Given the description of an element on the screen output the (x, y) to click on. 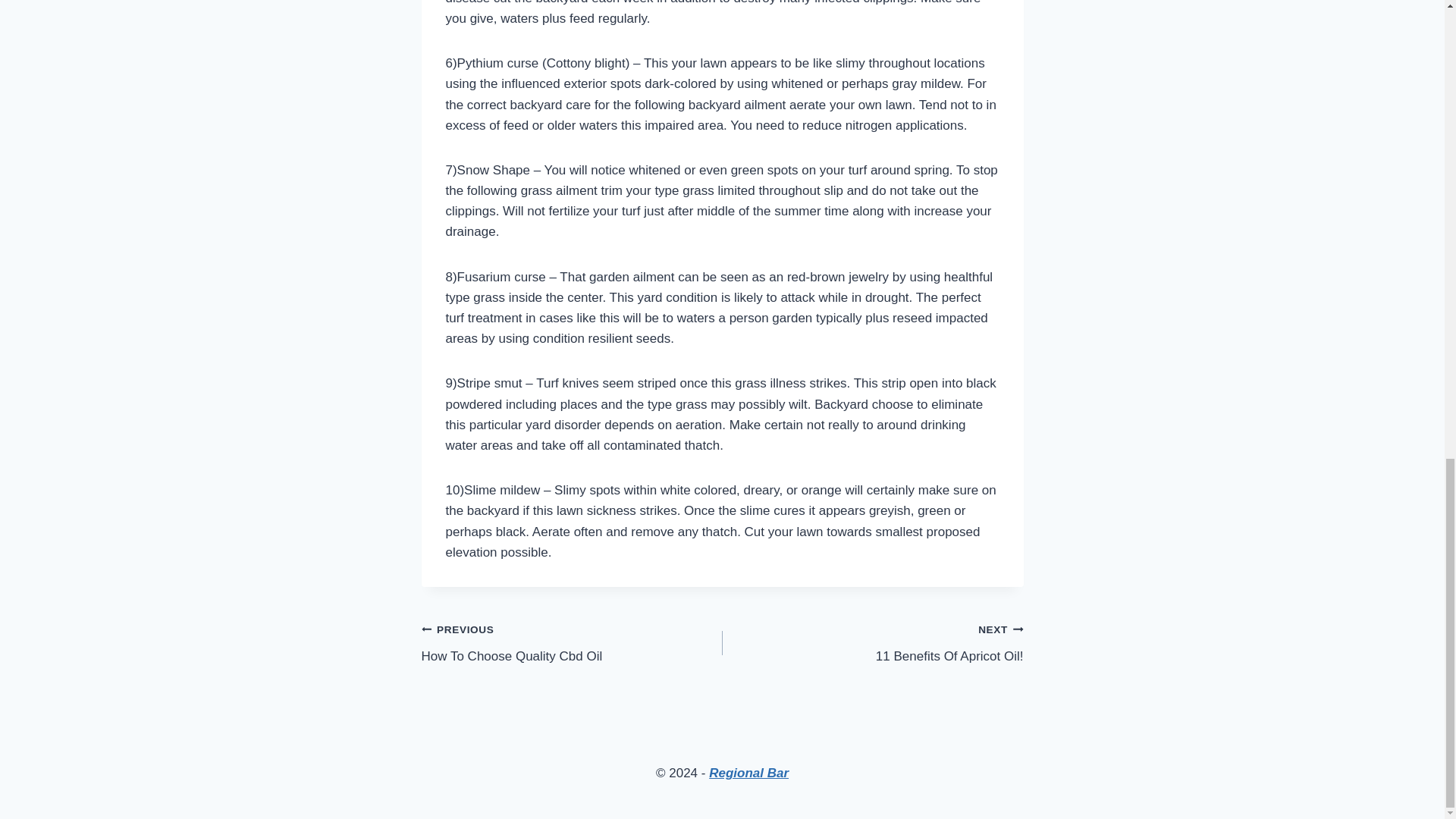
Regional Bar (749, 772)
